Given the description of an element on the screen output the (x, y) to click on. 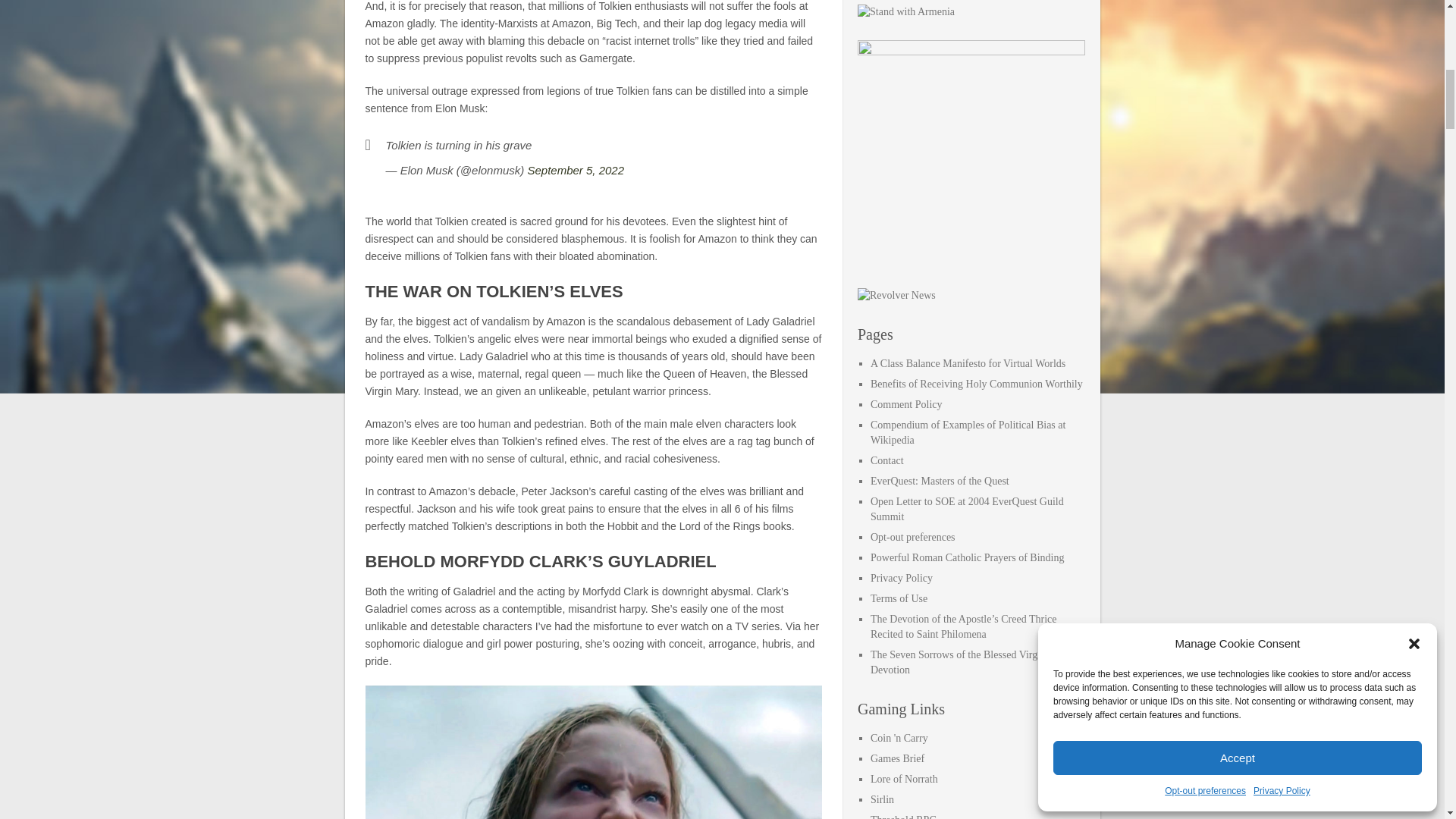
a fun social game available from Frogdice! (899, 737)
September 5, 2022 (575, 169)
EverQuest lore (903, 778)
Hands down one of the best sites for game design information (881, 799)
The Business of Games (897, 758)
